Given the description of an element on the screen output the (x, y) to click on. 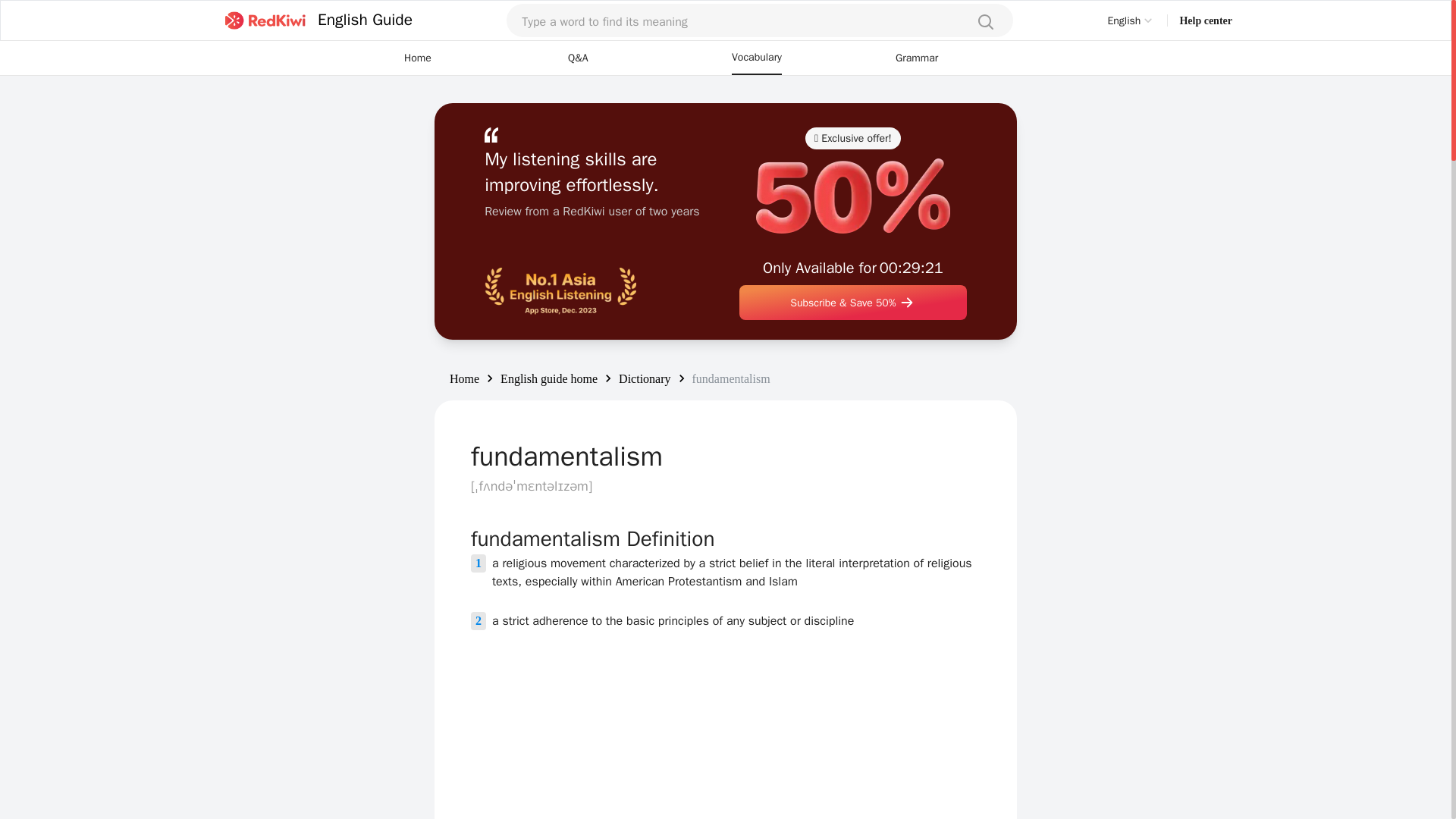
Help center (1205, 20)
Dictionary (643, 378)
Grammar (916, 57)
Home (464, 378)
English Guide (315, 20)
English guide home (548, 378)
English Guide (364, 20)
Advertisement (725, 747)
English (1131, 19)
Vocabulary (756, 57)
